Given the description of an element on the screen output the (x, y) to click on. 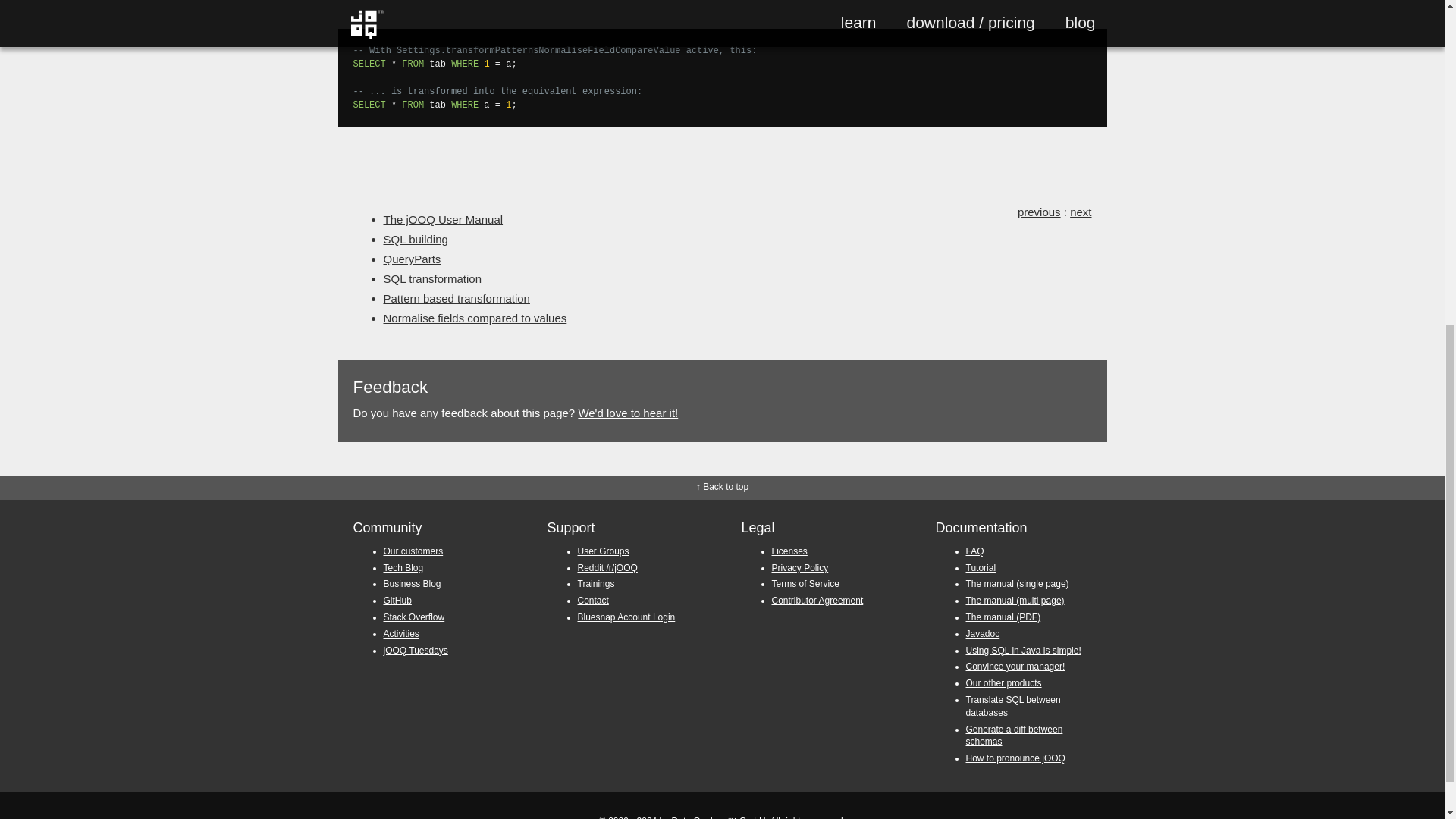
GitHub (398, 600)
The jOOQ User Manual (443, 219)
next (1080, 211)
We'd love to hear it! (628, 412)
Stack Overflow (414, 616)
previous (1039, 211)
jOOQ Tuesdays (416, 650)
Our customers (414, 551)
Business Blog (412, 583)
Tech Blog (403, 567)
Previous section: Normalise associative operations (1039, 211)
SQL building (416, 238)
SQL transformation (432, 278)
Pattern based transformation (456, 297)
Activities (401, 633)
